Given the description of an element on the screen output the (x, y) to click on. 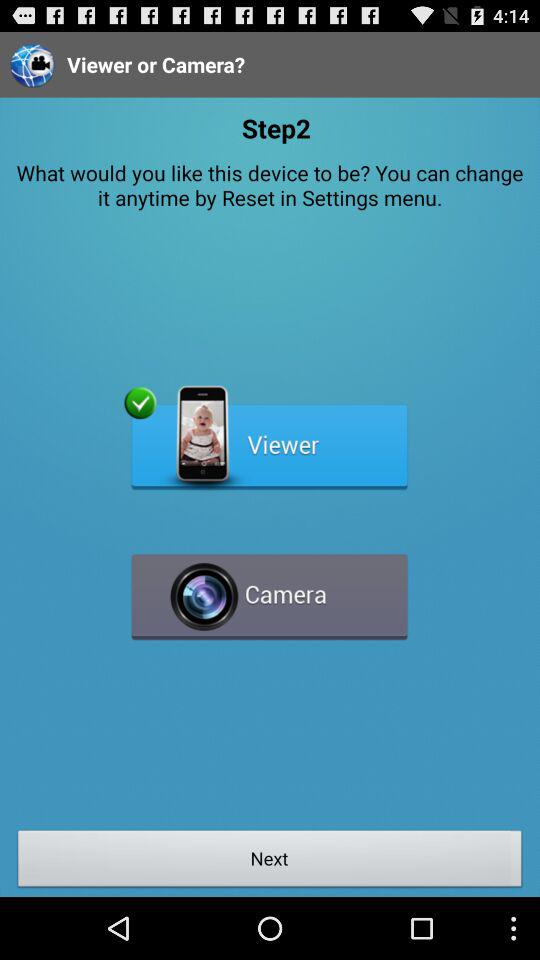
tap item at the bottom (269, 861)
